Given the description of an element on the screen output the (x, y) to click on. 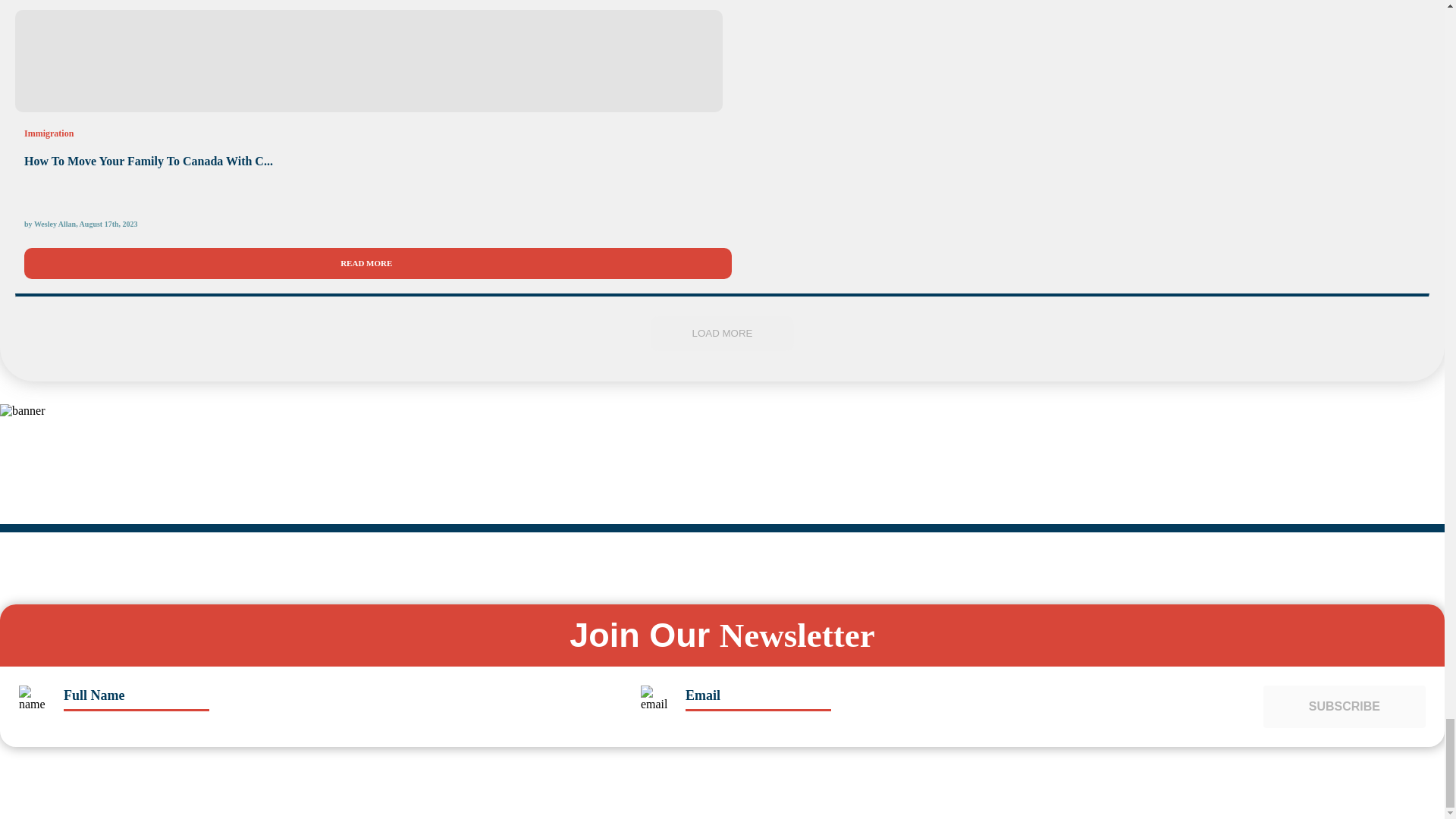
SUBSCRIBE (1344, 706)
LOAD MORE (722, 333)
